Given the description of an element on the screen output the (x, y) to click on. 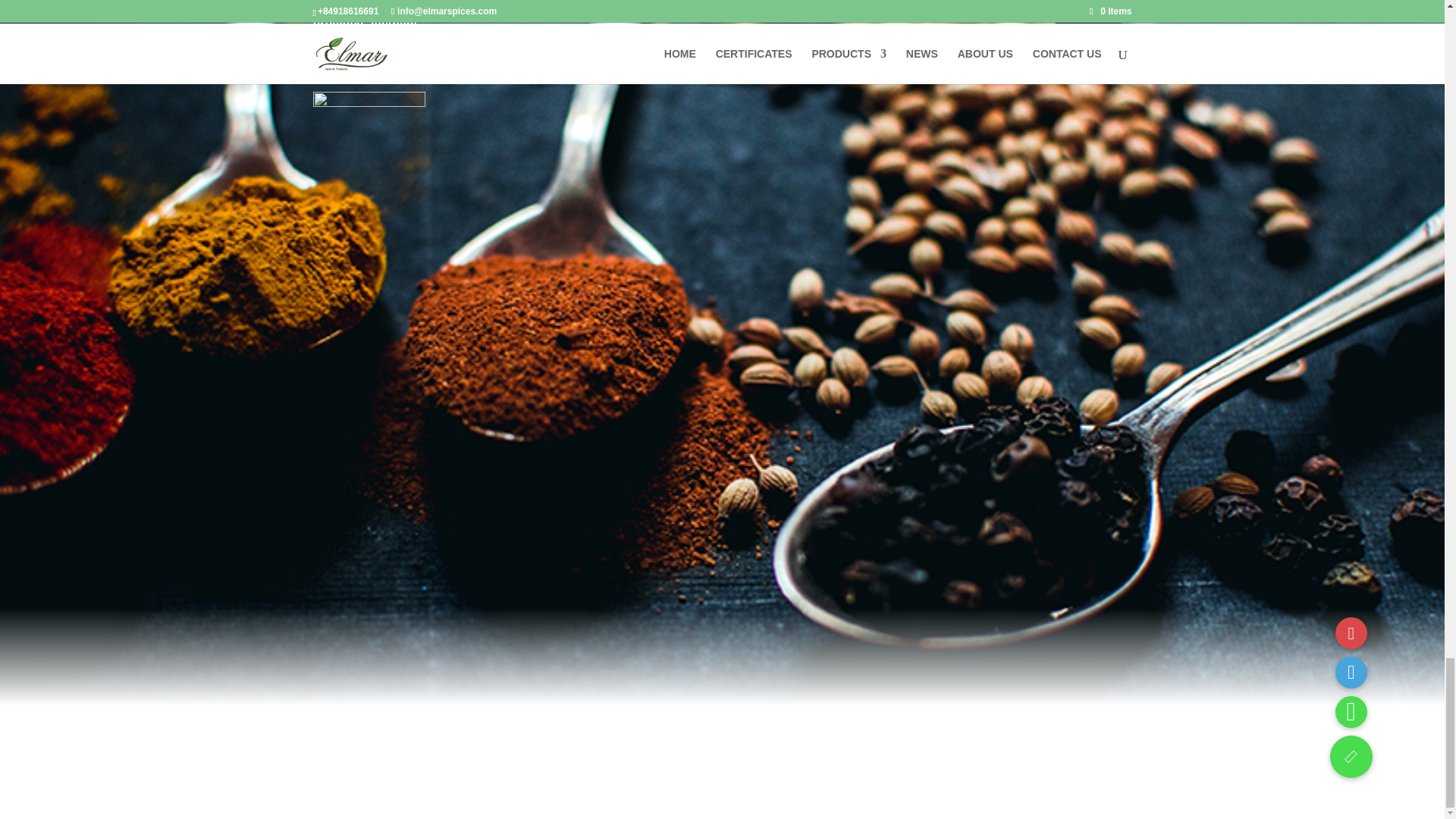
SUBMIT (1088, 12)
